Given the description of an element on the screen output the (x, y) to click on. 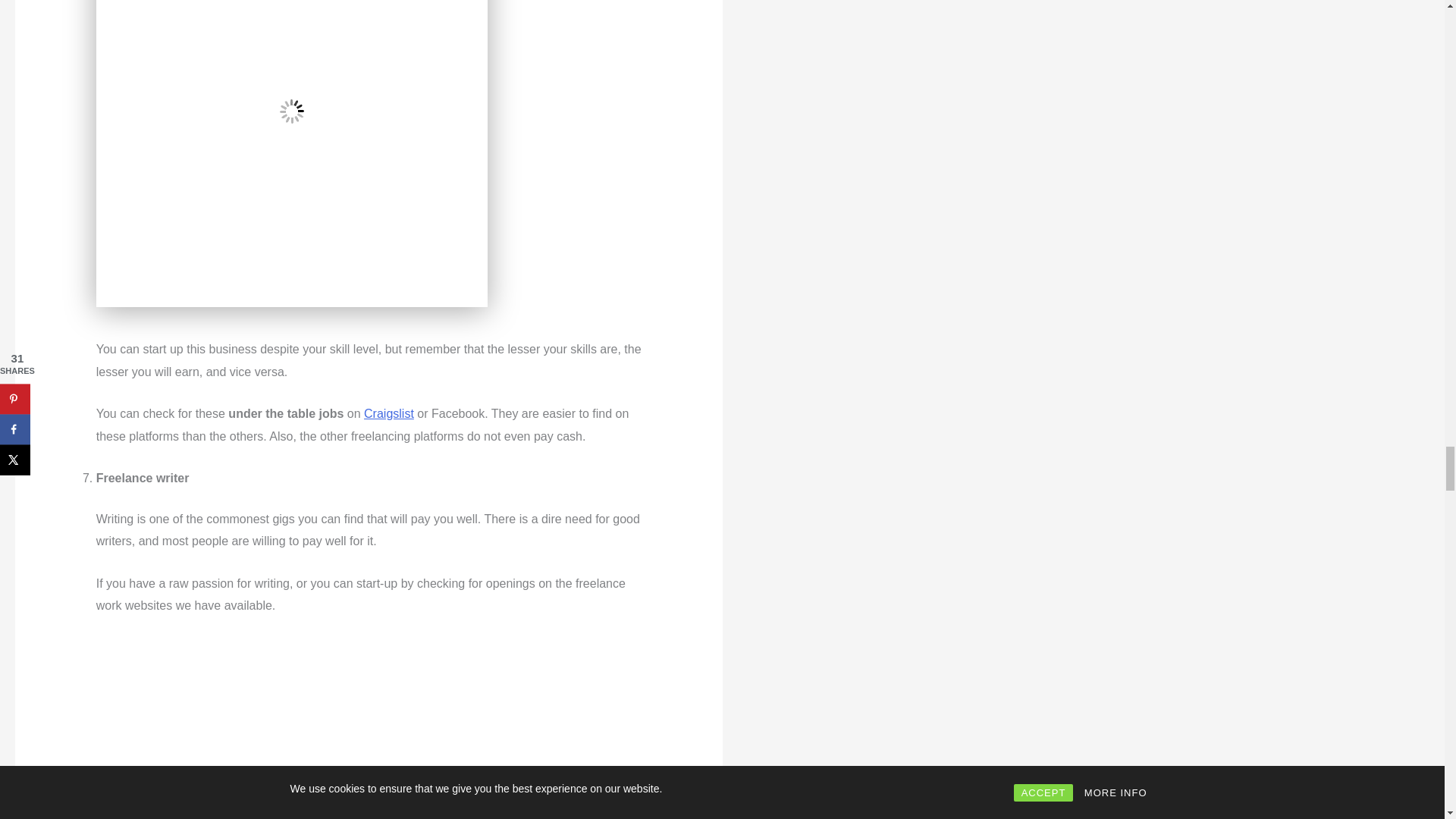
Craigslist (388, 413)
